Given the description of an element on the screen output the (x, y) to click on. 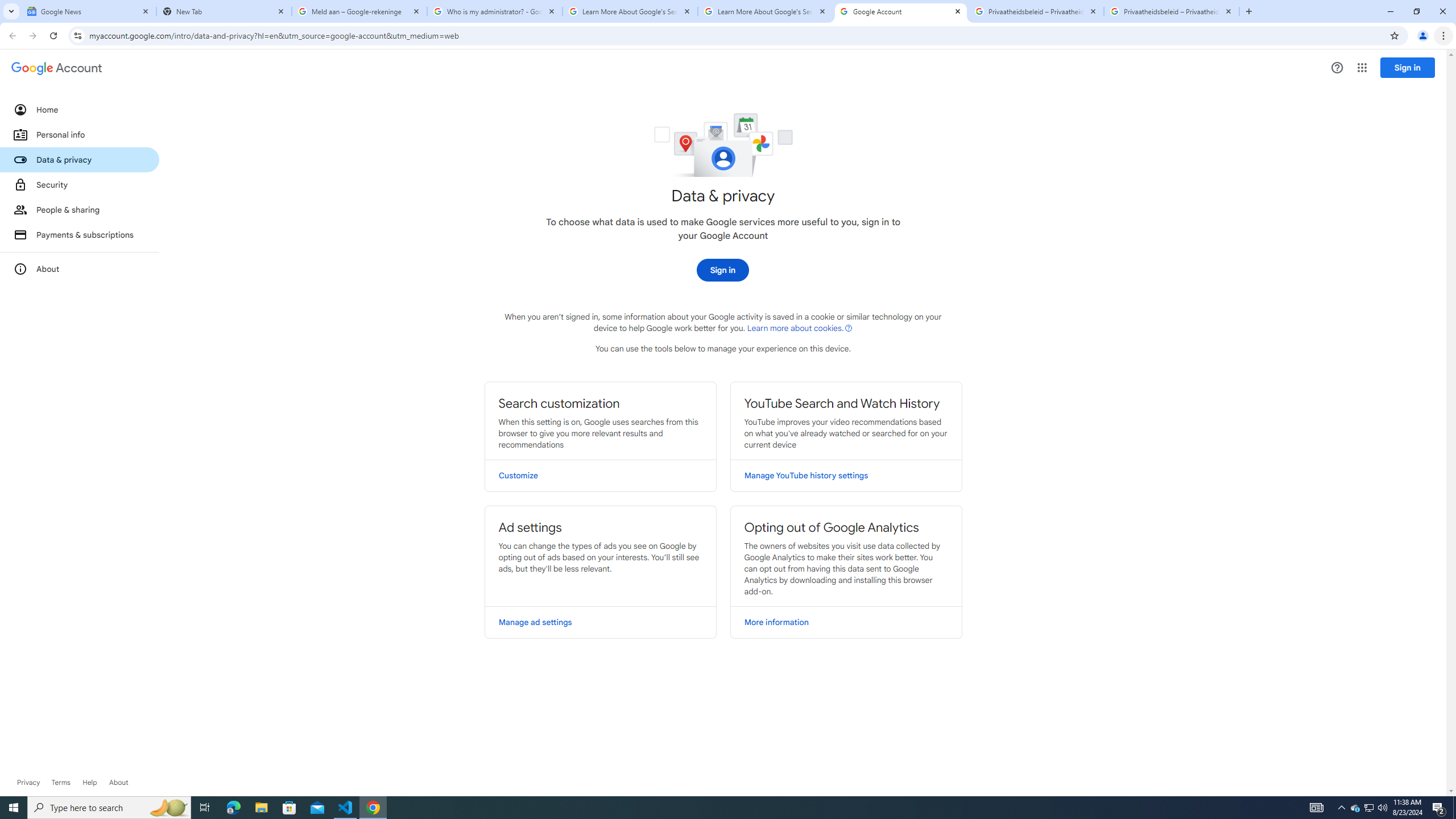
Payments & subscriptions (79, 234)
